Given the description of an element on the screen output the (x, y) to click on. 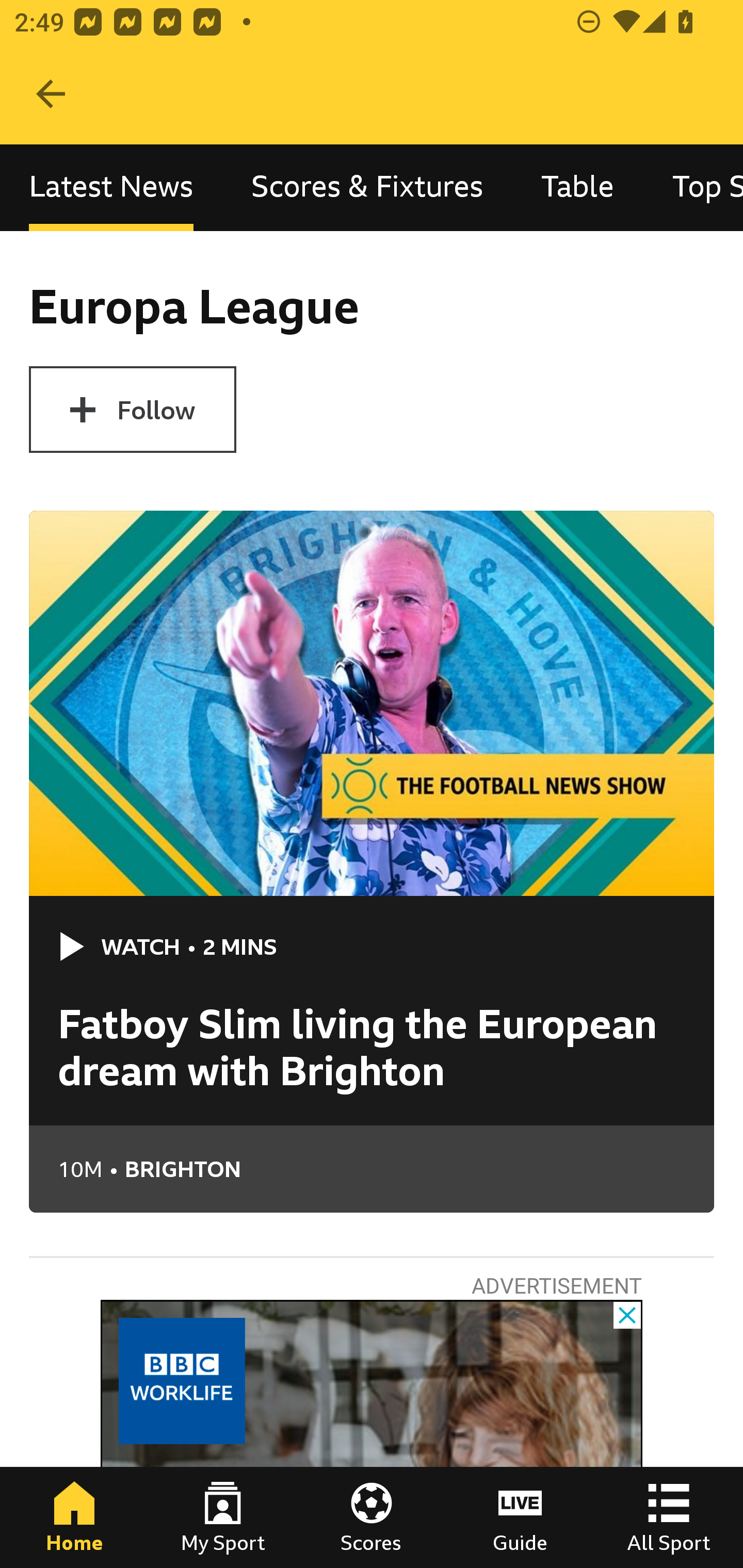
Navigate up (50, 93)
Latest News, selected Latest News (111, 187)
Scores & Fixtures (367, 187)
Table (577, 187)
Follow Europa League Follow (132, 409)
My Sport (222, 1517)
Scores (371, 1517)
Guide (519, 1517)
All Sport (668, 1517)
